Given the description of an element on the screen output the (x, y) to click on. 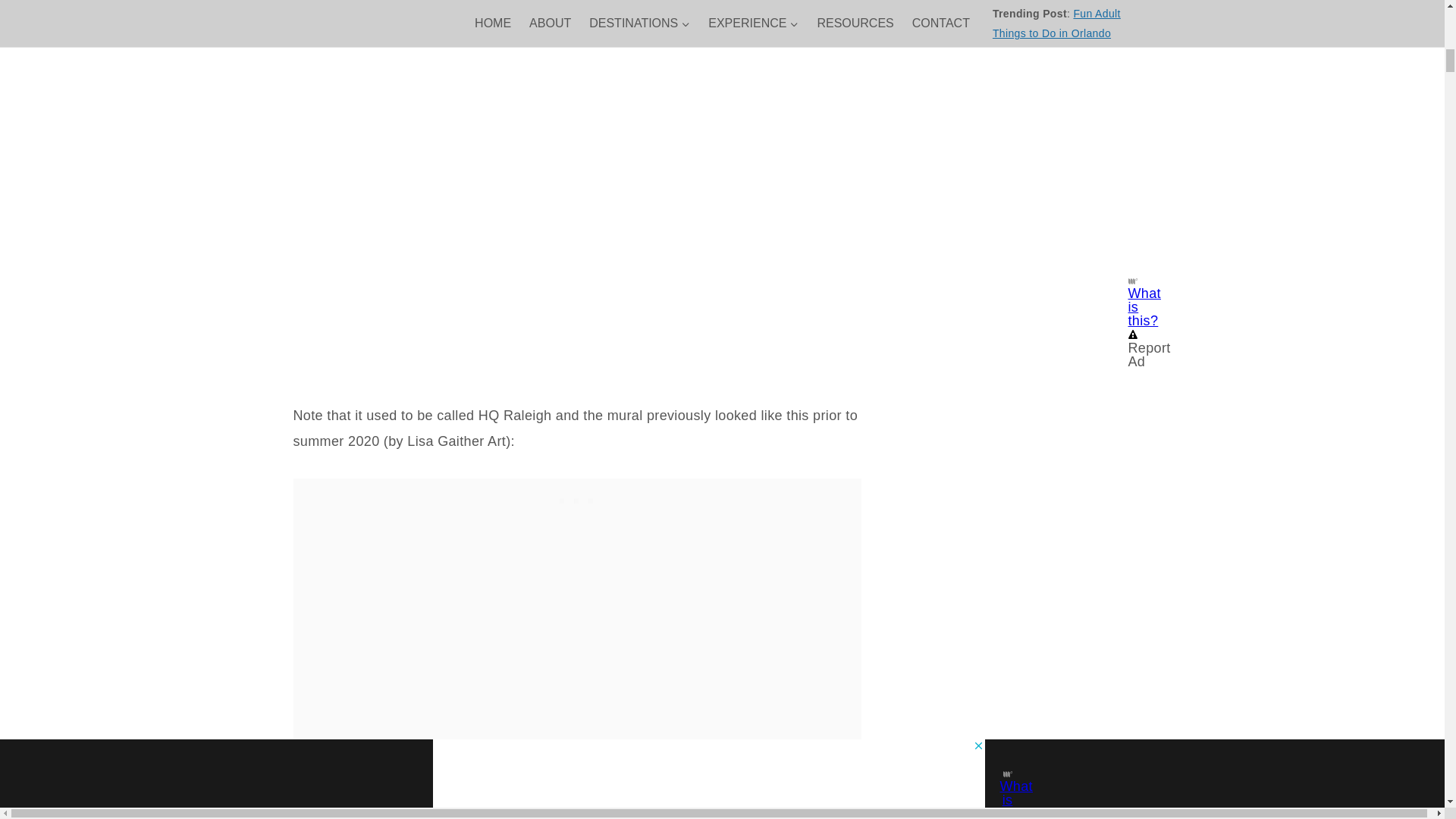
3rd party ad content (576, 497)
3rd party ad content (1028, 102)
